Given the description of an element on the screen output the (x, y) to click on. 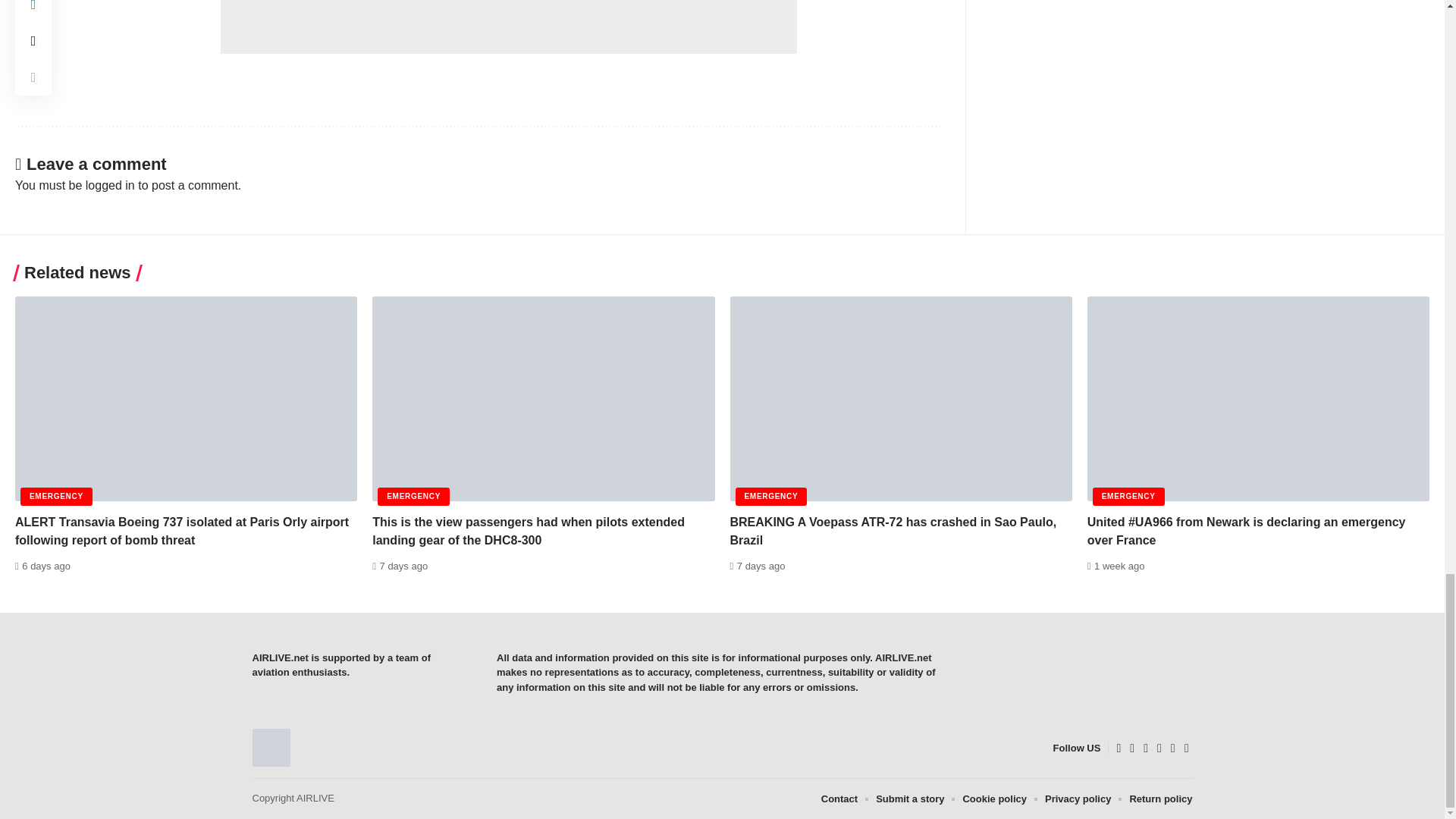
BREAKING A Voepass ATR-72 has crashed in Sao Paulo, Brazil (900, 399)
AIRLIVE (270, 747)
